Given the description of an element on the screen output the (x, y) to click on. 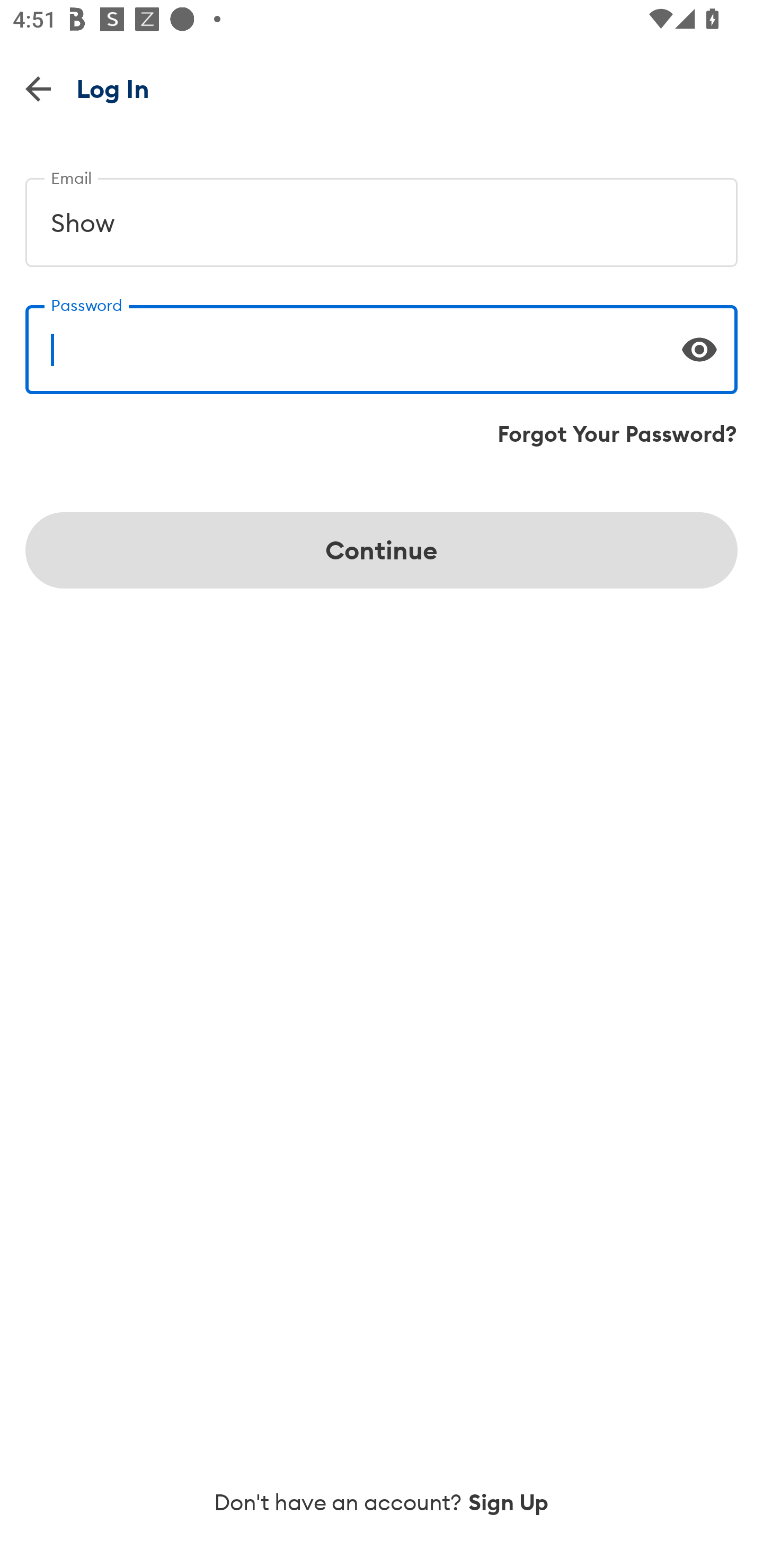
Back (38, 88)
Show Email (381, 215)
Password (381, 342)
Forgot Your Password? (617, 433)
Continue (381, 550)
Sign Up (508, 1502)
